Given the description of an element on the screen output the (x, y) to click on. 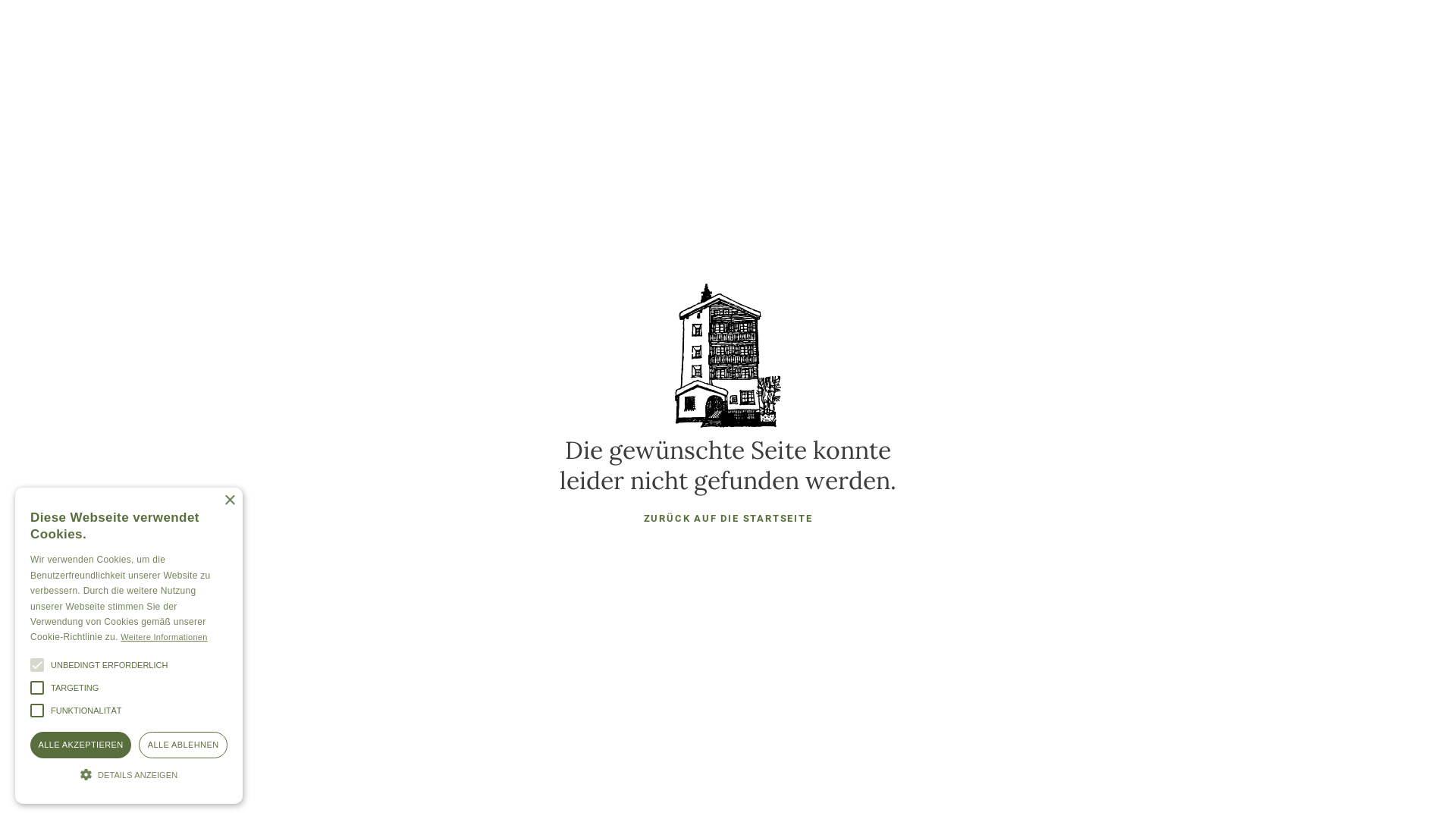
Weitere Informationen Element type: text (163, 636)
